Given the description of an element on the screen output the (x, y) to click on. 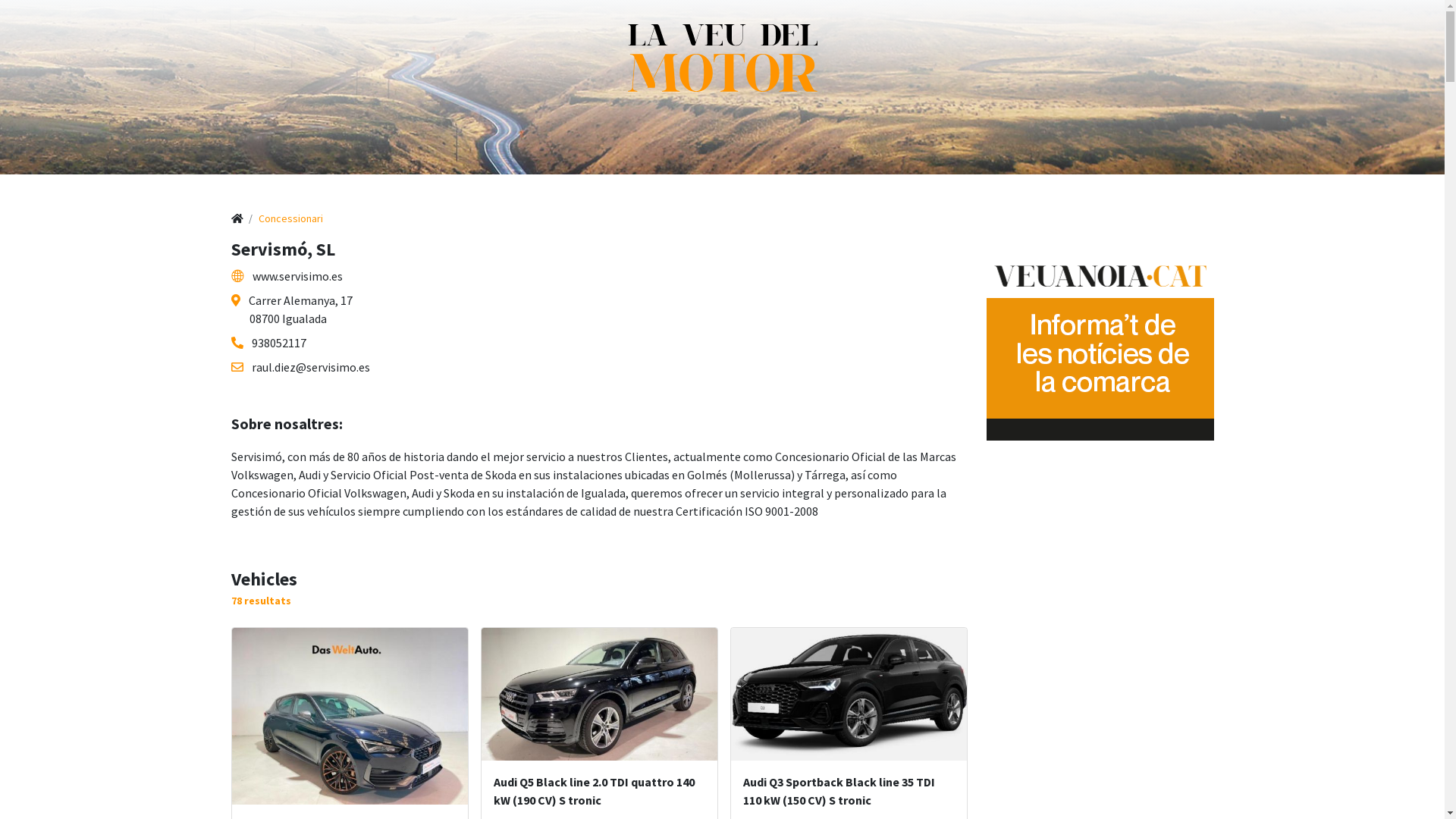
www.servisimo.es Element type: text (286, 275)
Carrer Alemanya, 17
08700 Igualada Element type: text (290, 309)
Audi Q5 Black line 2.0 TDI quattro 140 kW (190 CV) S tronic Element type: hover (599, 693)
raul.diez@servisimo.es Element type: text (299, 366)
938052117 Element type: text (267, 342)
Audi Q3 Sportback Black line 35 TDI 110 kW (150 CV) S tronic Element type: hover (848, 693)
Cupra Leon 2.0 TSI DSG 180 kW (245 CV) Element type: hover (349, 715)
